Given the description of an element on the screen output the (x, y) to click on. 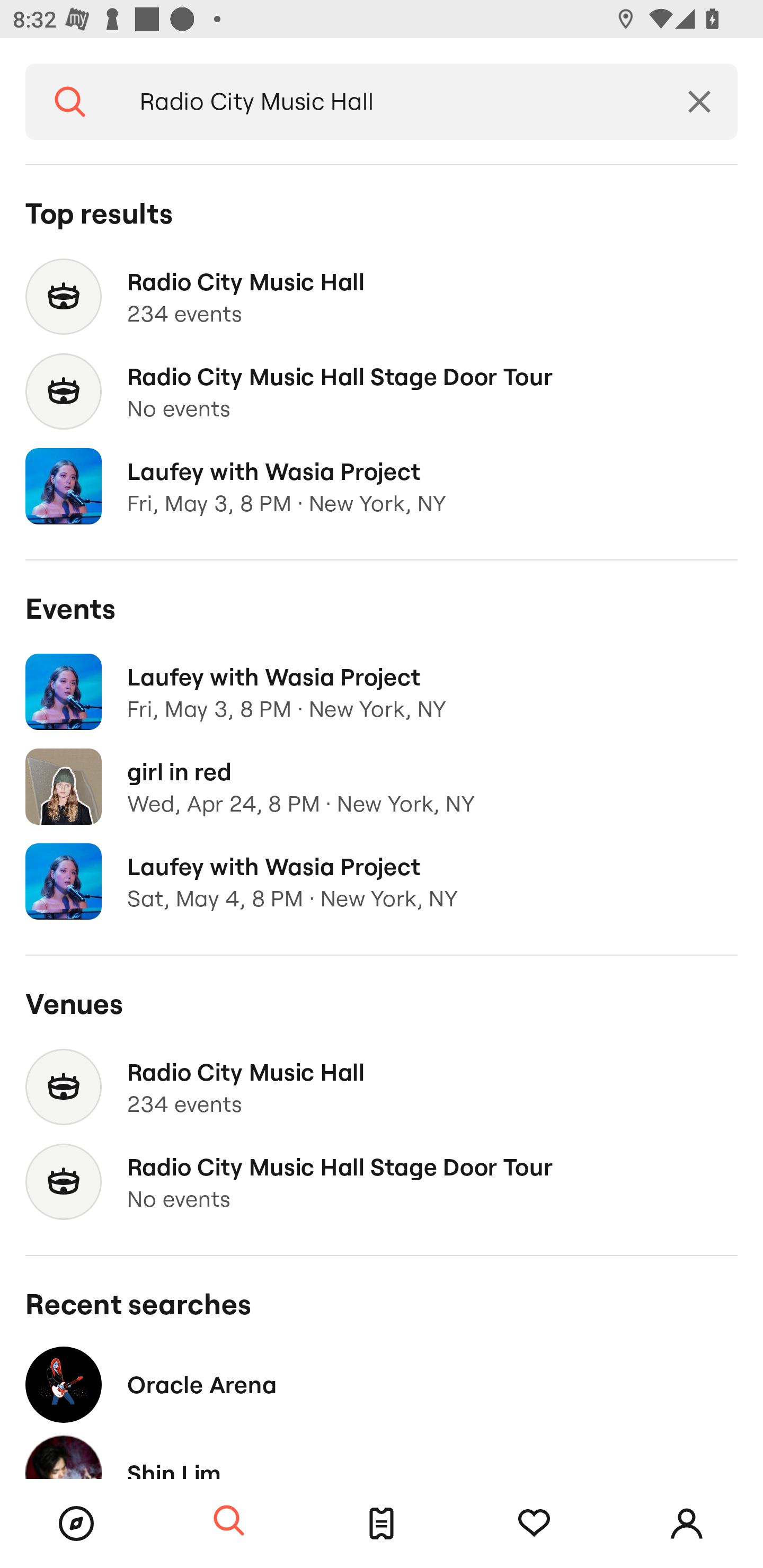
Search (69, 101)
Radio City Music Hall (387, 101)
Clear (699, 101)
Radio City Music Hall 234 events (381, 296)
Radio City Music Hall Stage Door Tour No events (381, 391)
girl in red Wed, Apr 24, 8 PM · New York, NY (381, 787)
Radio City Music Hall 234 events (381, 1087)
Radio City Music Hall Stage Door Tour No events (381, 1182)
Oracle Arena (381, 1384)
Browse (76, 1523)
Search (228, 1521)
Tickets (381, 1523)
Tracking (533, 1523)
Account (686, 1523)
